Given the description of an element on the screen output the (x, y) to click on. 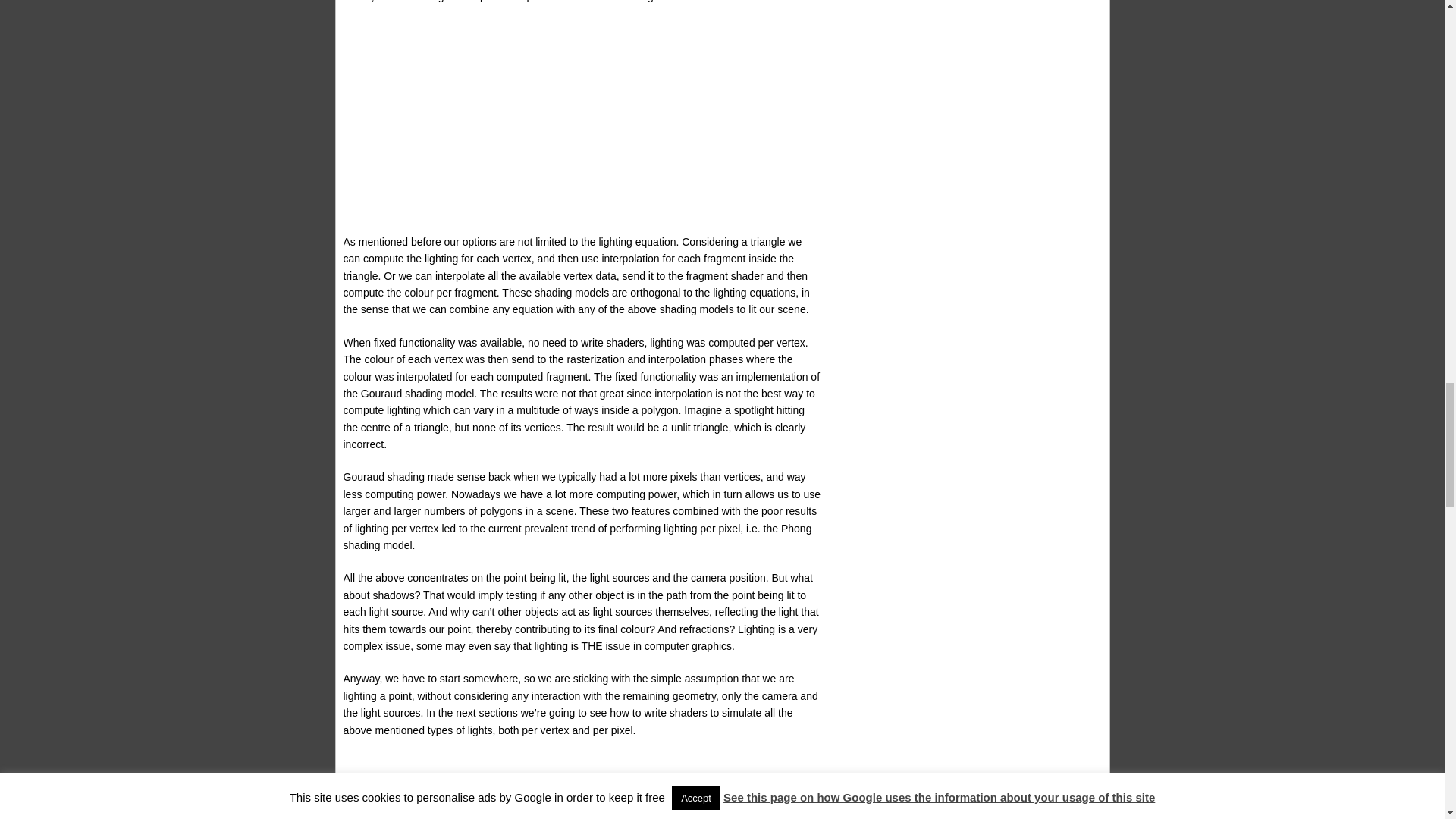
Advertisement (581, 127)
Advertisement (581, 786)
